Given the description of an element on the screen output the (x, y) to click on. 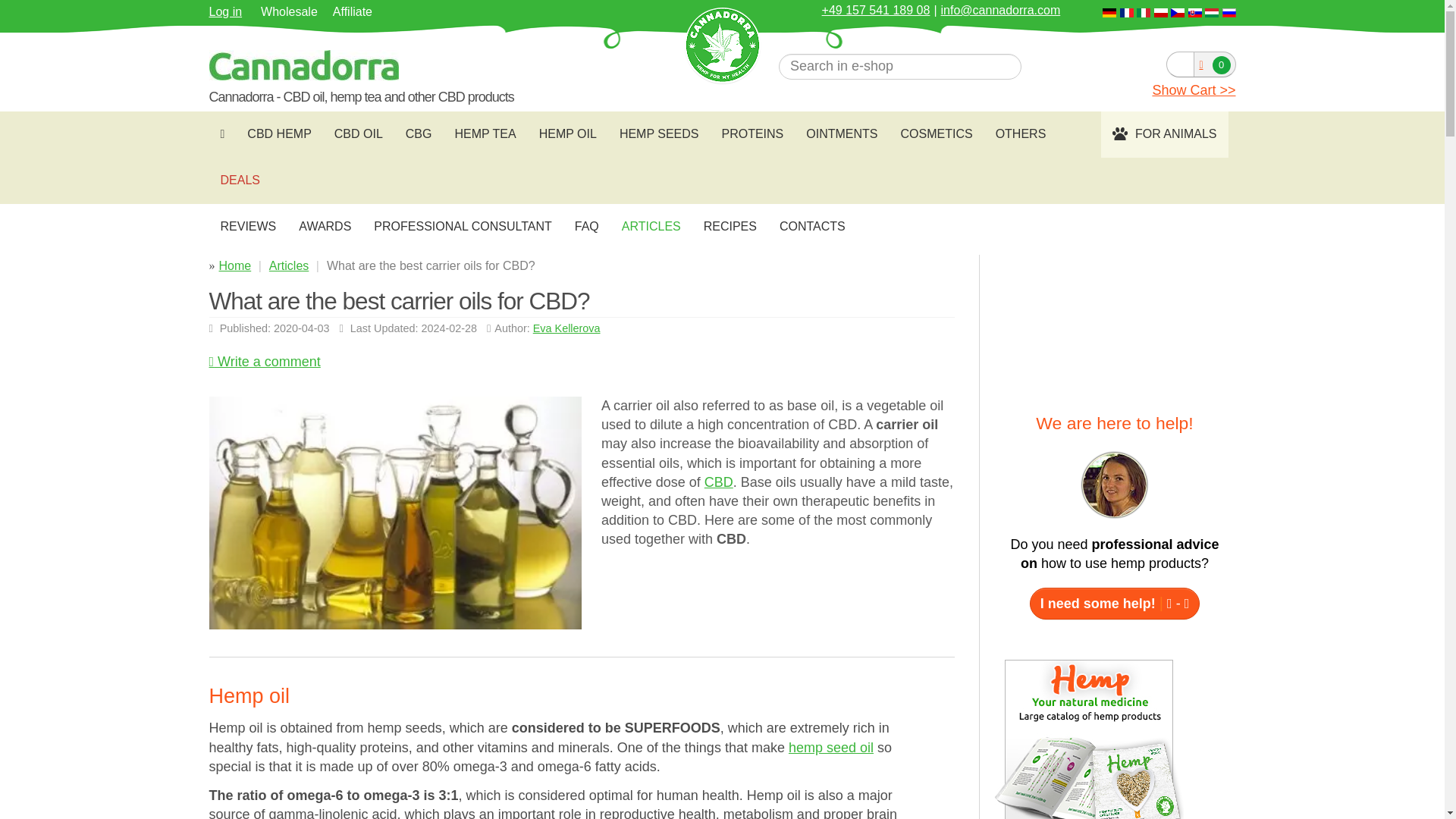
Italia (1143, 12)
German (1109, 12)
Affiliate (352, 12)
Www.zelenazeme.cz (1177, 11)
Www.konopie Zdrowie.pl (1160, 11)
Www.cannadorra.it (1143, 11)
Www.cannadorra.fr (1126, 11)
Log in (226, 11)
France (1126, 12)
Wholesale (292, 12)
